Given the description of an element on the screen output the (x, y) to click on. 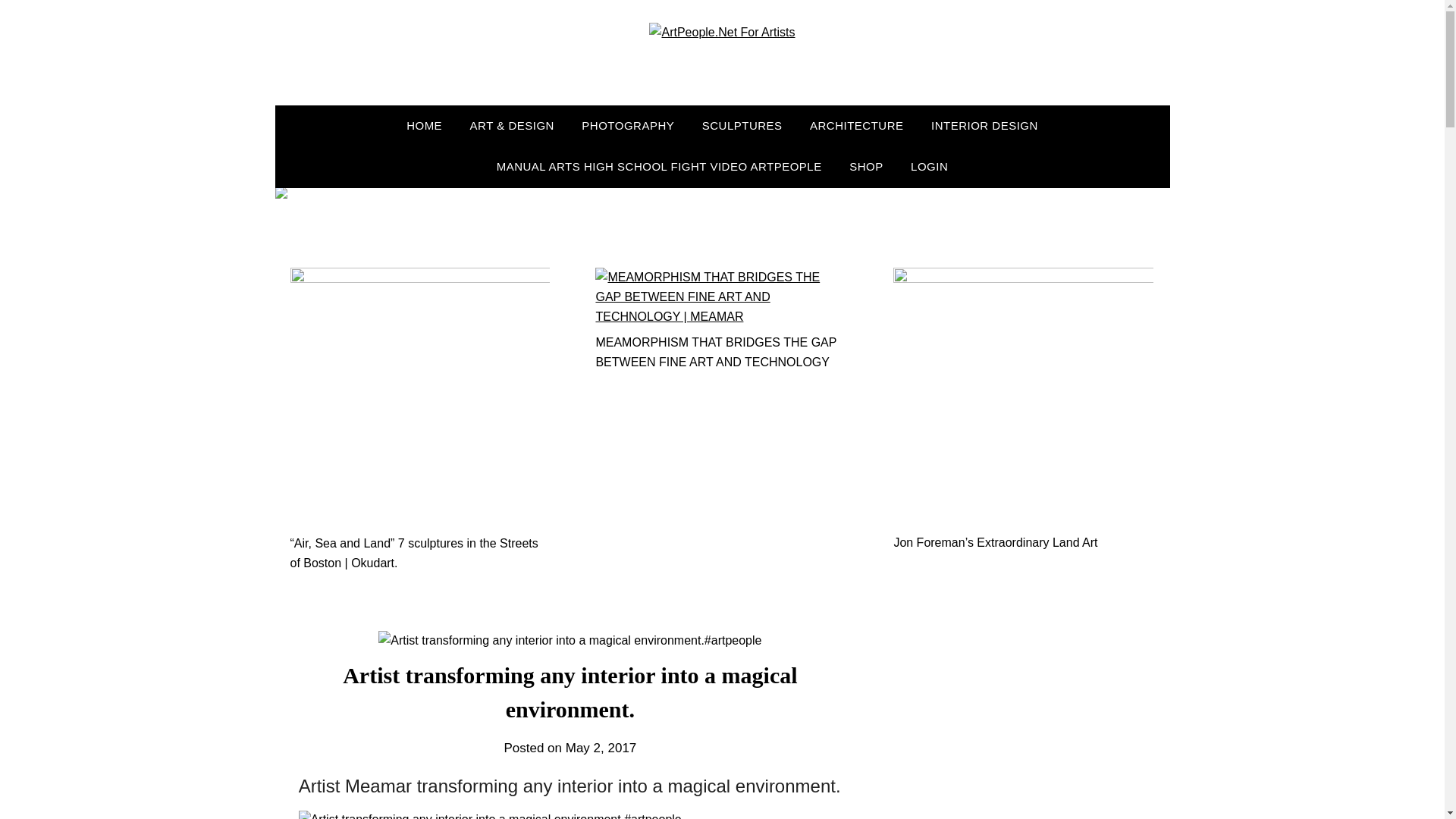
May 2, 2017 (601, 748)
LOGIN (928, 166)
HOME (424, 125)
ARCHITECTURE (856, 125)
SHOP (866, 166)
PHOTOGRAPHY (627, 125)
SCULPTURES (742, 125)
INTERIOR DESIGN (983, 125)
MANUAL ARTS HIGH SCHOOL FIGHT VIDEO ARTPEOPLE (659, 166)
